Given the description of an element on the screen output the (x, y) to click on. 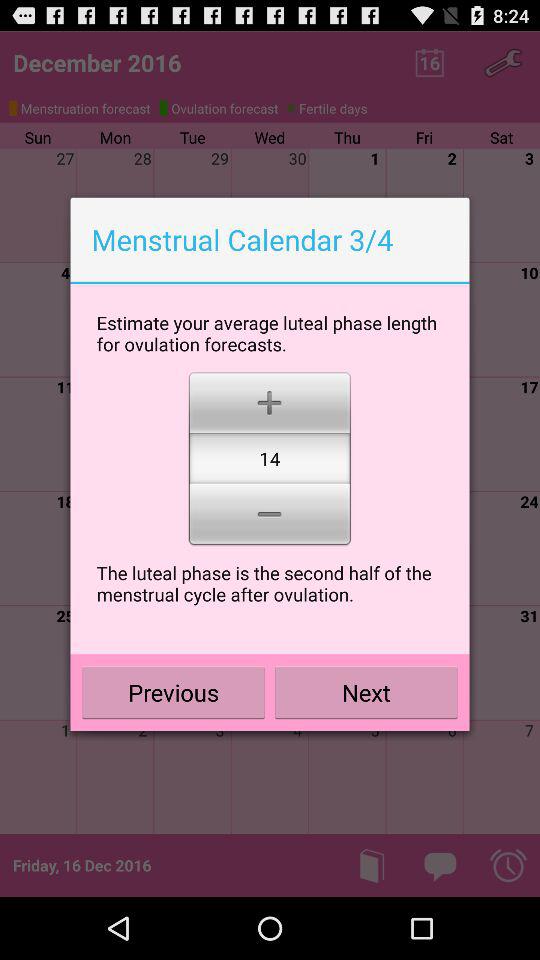
decrease count (269, 515)
